Given the description of an element on the screen output the (x, y) to click on. 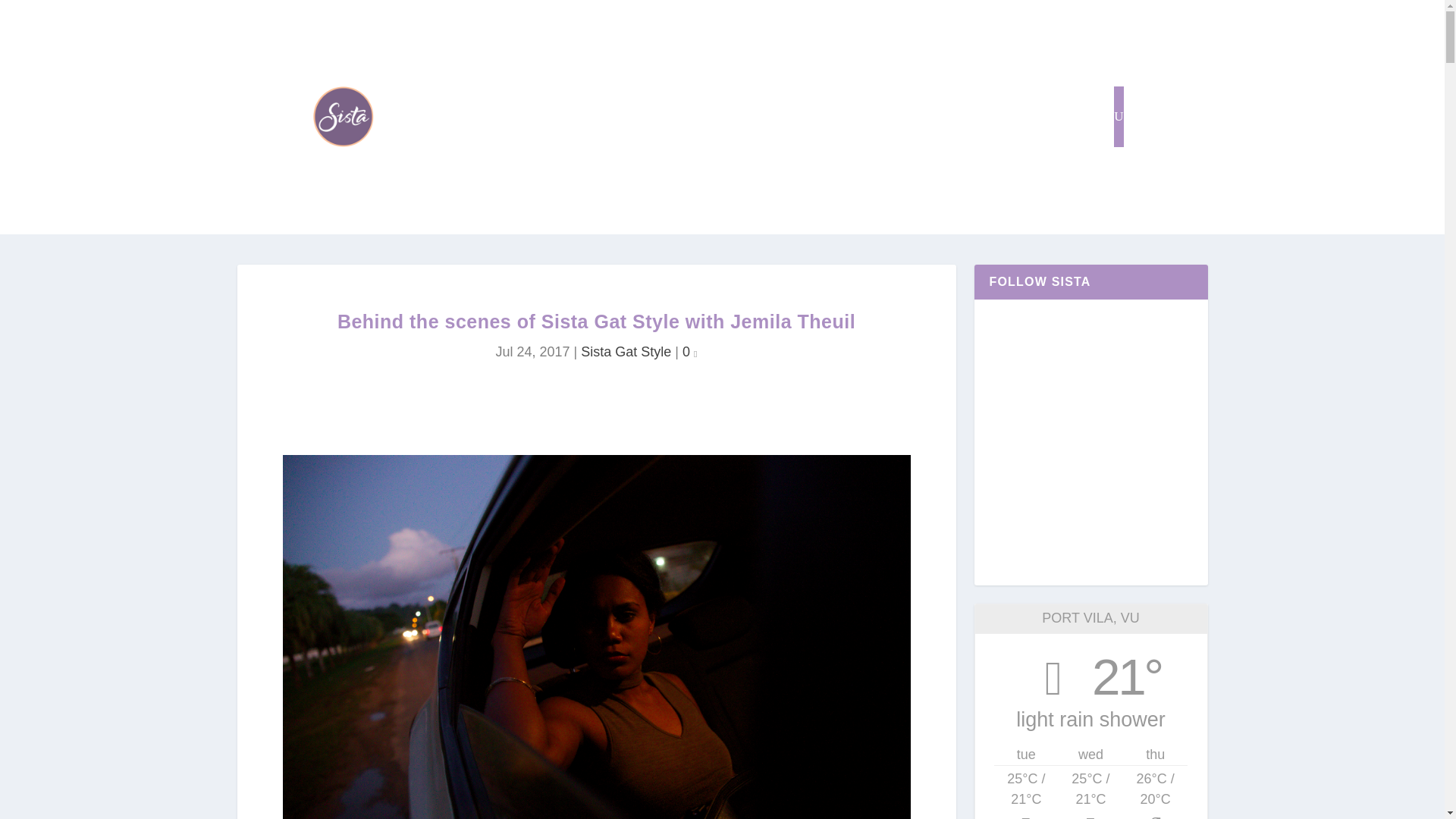
Sista Gat Style (625, 351)
Sista Gat Style (876, 116)
0 (689, 351)
